Given the description of an element on the screen output the (x, y) to click on. 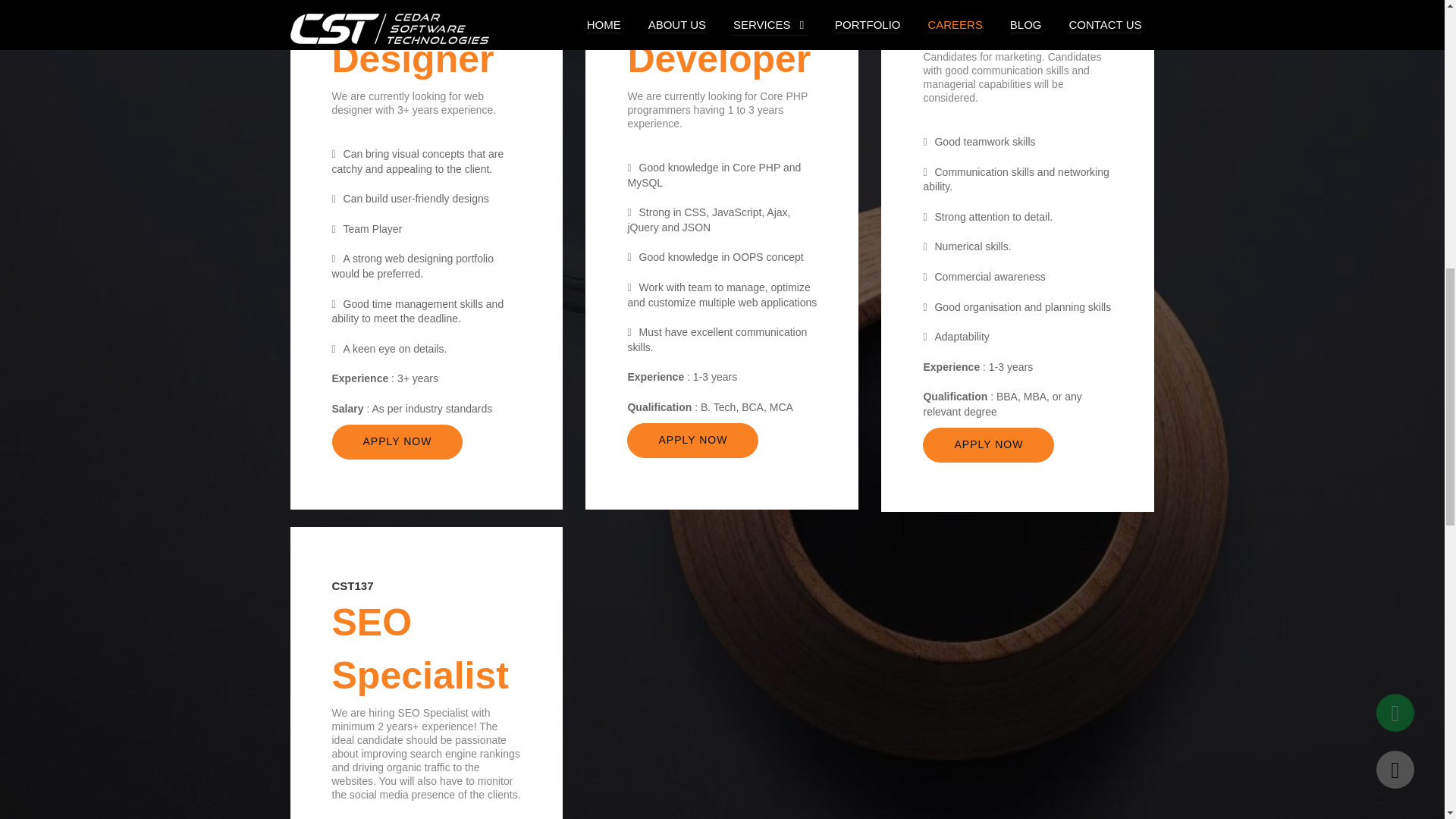
APPLY NOW (988, 444)
APPLY NOW (692, 440)
APPLY NOW (397, 442)
